Given the description of an element on the screen output the (x, y) to click on. 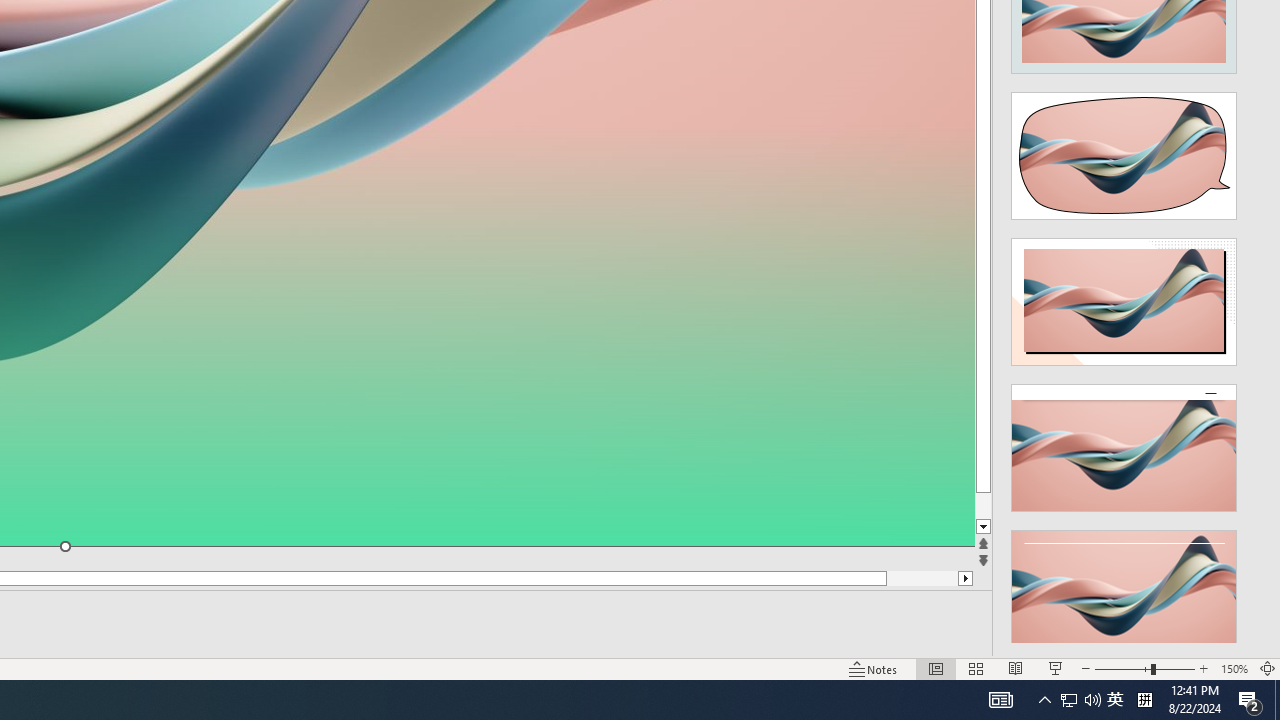
Zoom 150% (1234, 668)
